Given the description of an element on the screen output the (x, y) to click on. 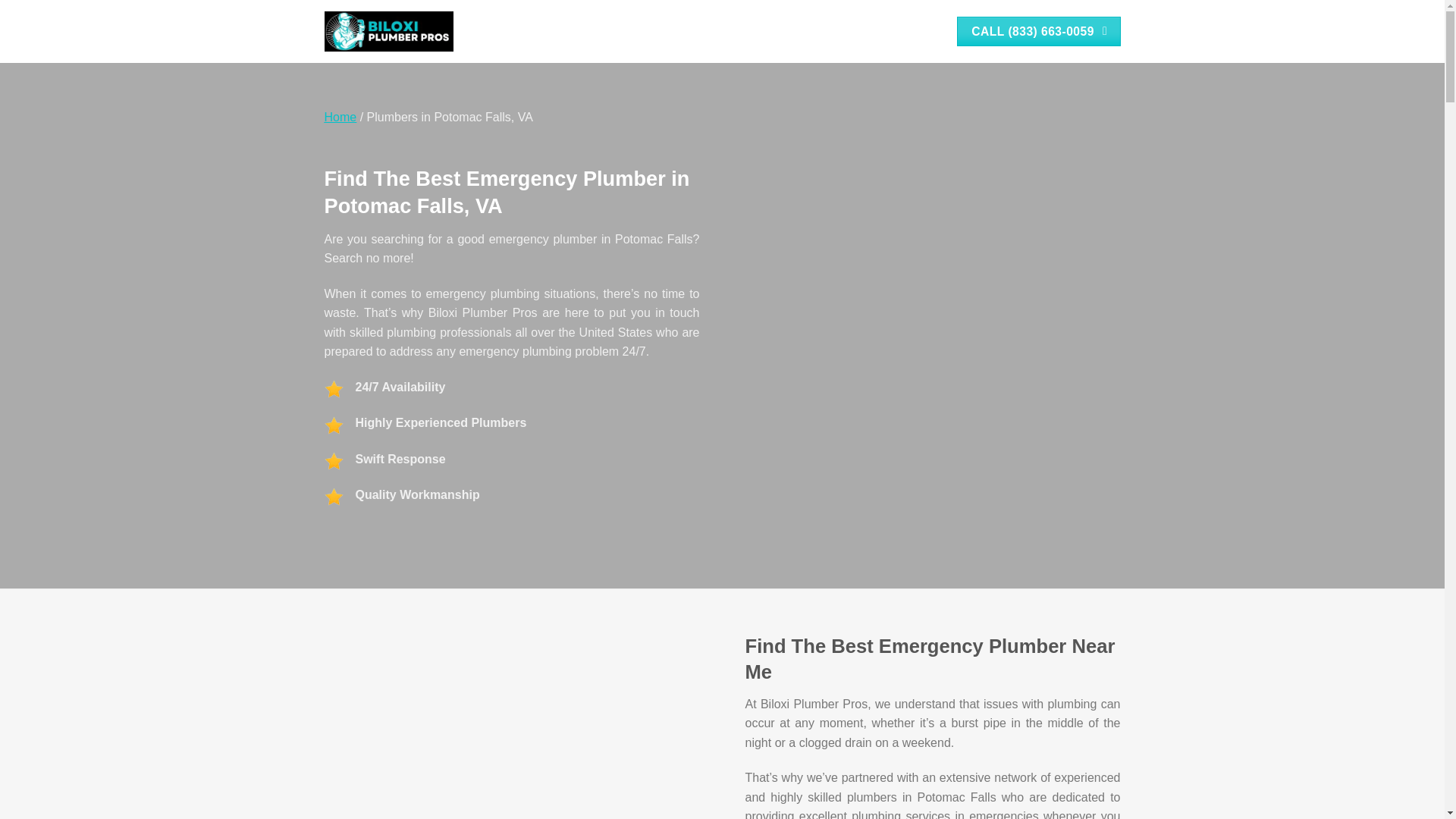
Biloxi Plumber Pros - Plumbing Services (388, 31)
HOME (740, 31)
Best Emergency Plumbers in USA (340, 116)
BLOG (844, 31)
Home (340, 116)
ABOUT US (792, 31)
CONTACT US (901, 31)
